Given the description of an element on the screen output the (x, y) to click on. 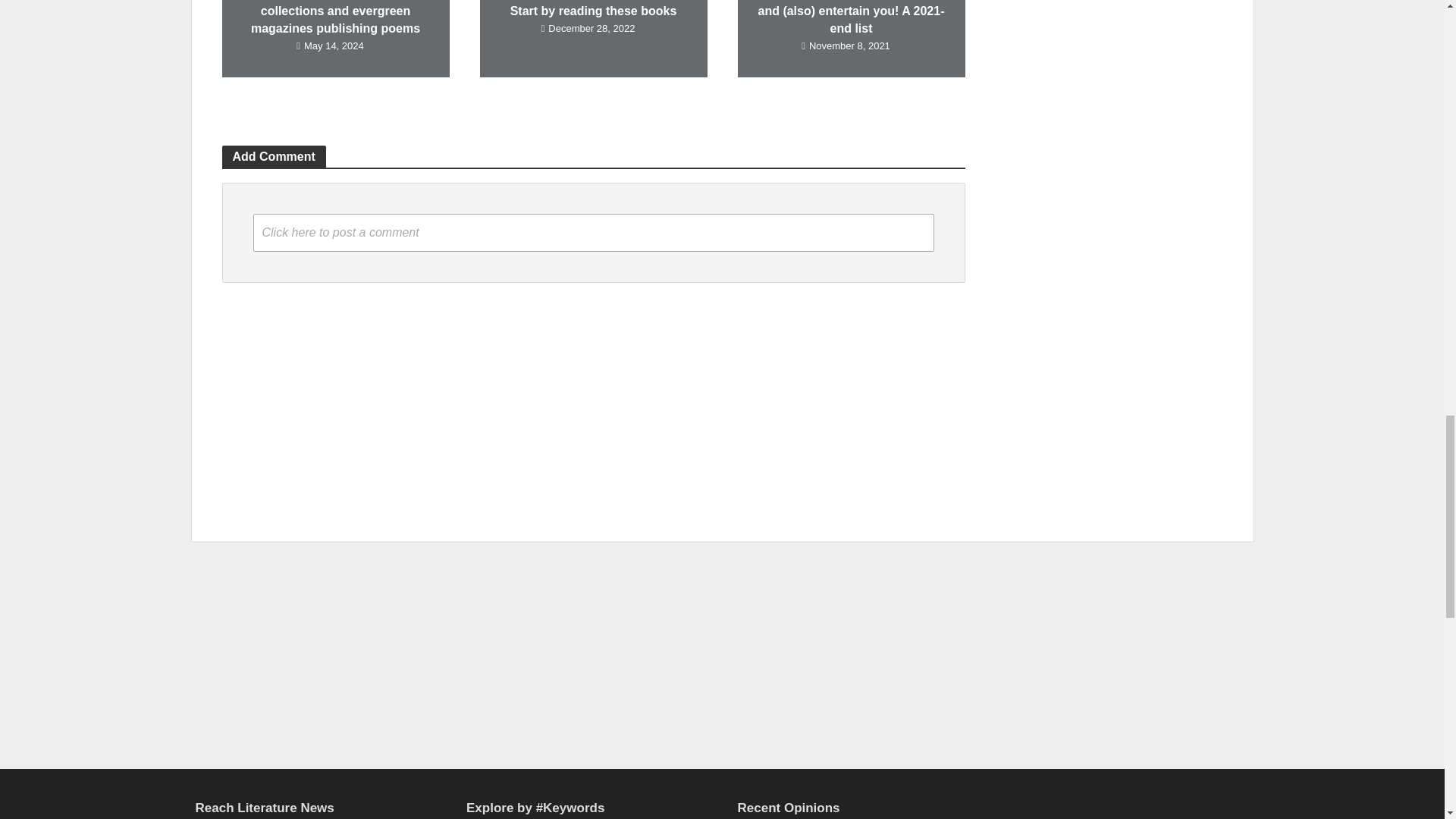
Interested in Hindu Literature? Start by reading these books (593, 9)
Interested in Hindu Literature? Start by reading these books (592, 3)
